Given the description of an element on the screen output the (x, y) to click on. 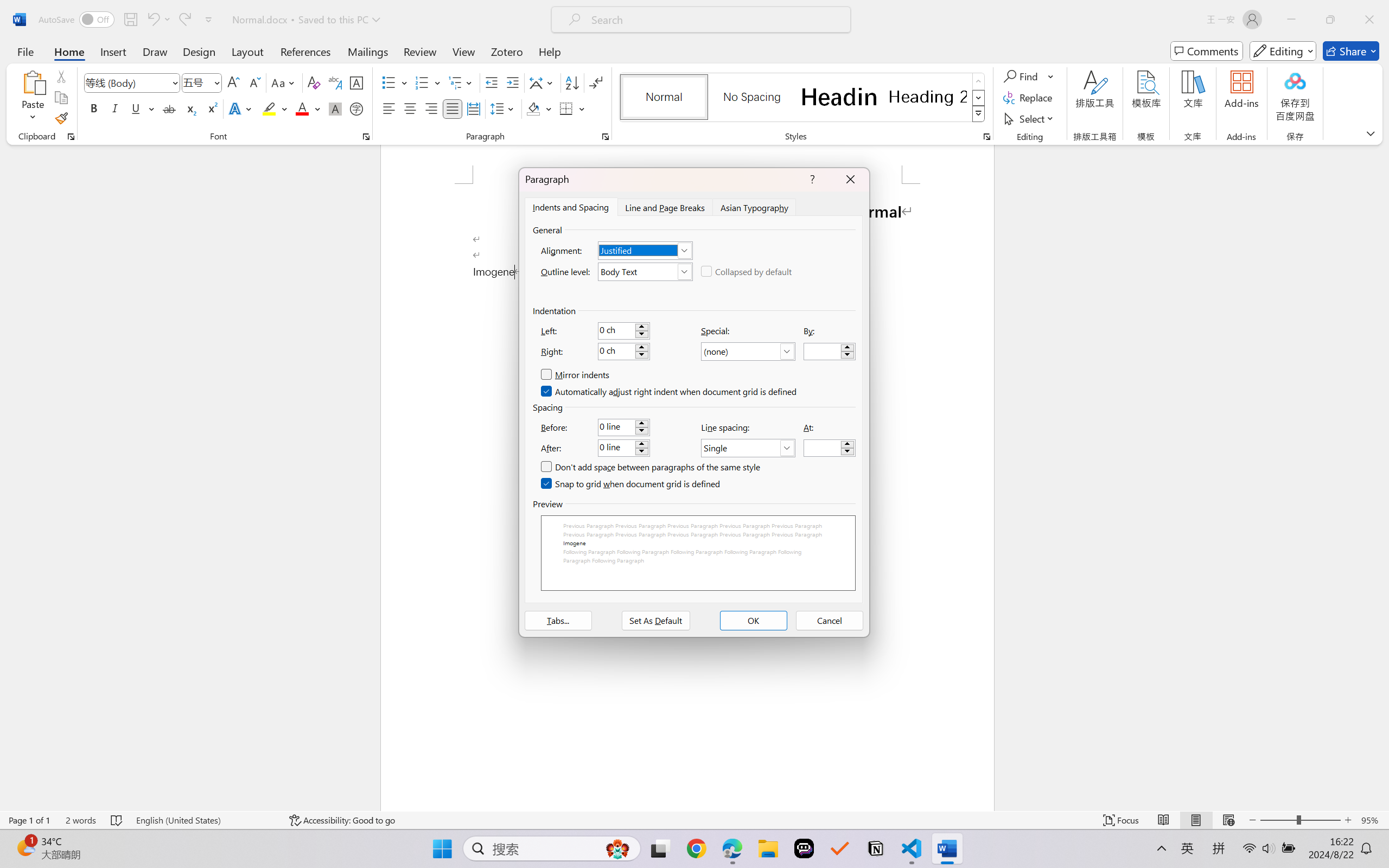
Italic (115, 108)
Replace... (1029, 97)
Cut (60, 75)
Indents and Spacing (570, 206)
Help (549, 51)
Increase Indent (512, 82)
Grow Font (233, 82)
Heading 2 (927, 96)
